Given the description of an element on the screen output the (x, y) to click on. 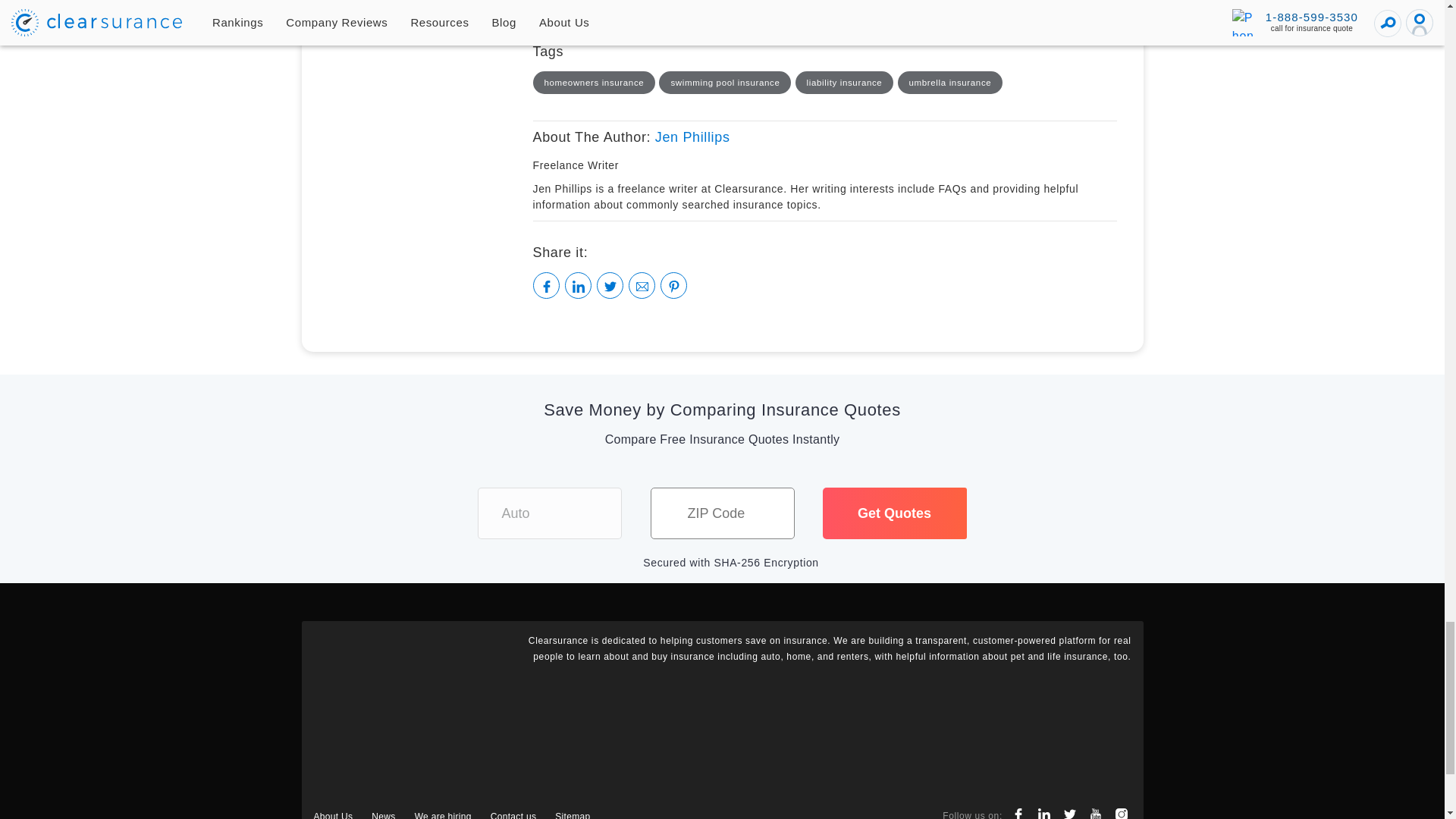
Get Quotes (894, 512)
